Given the description of an element on the screen output the (x, y) to click on. 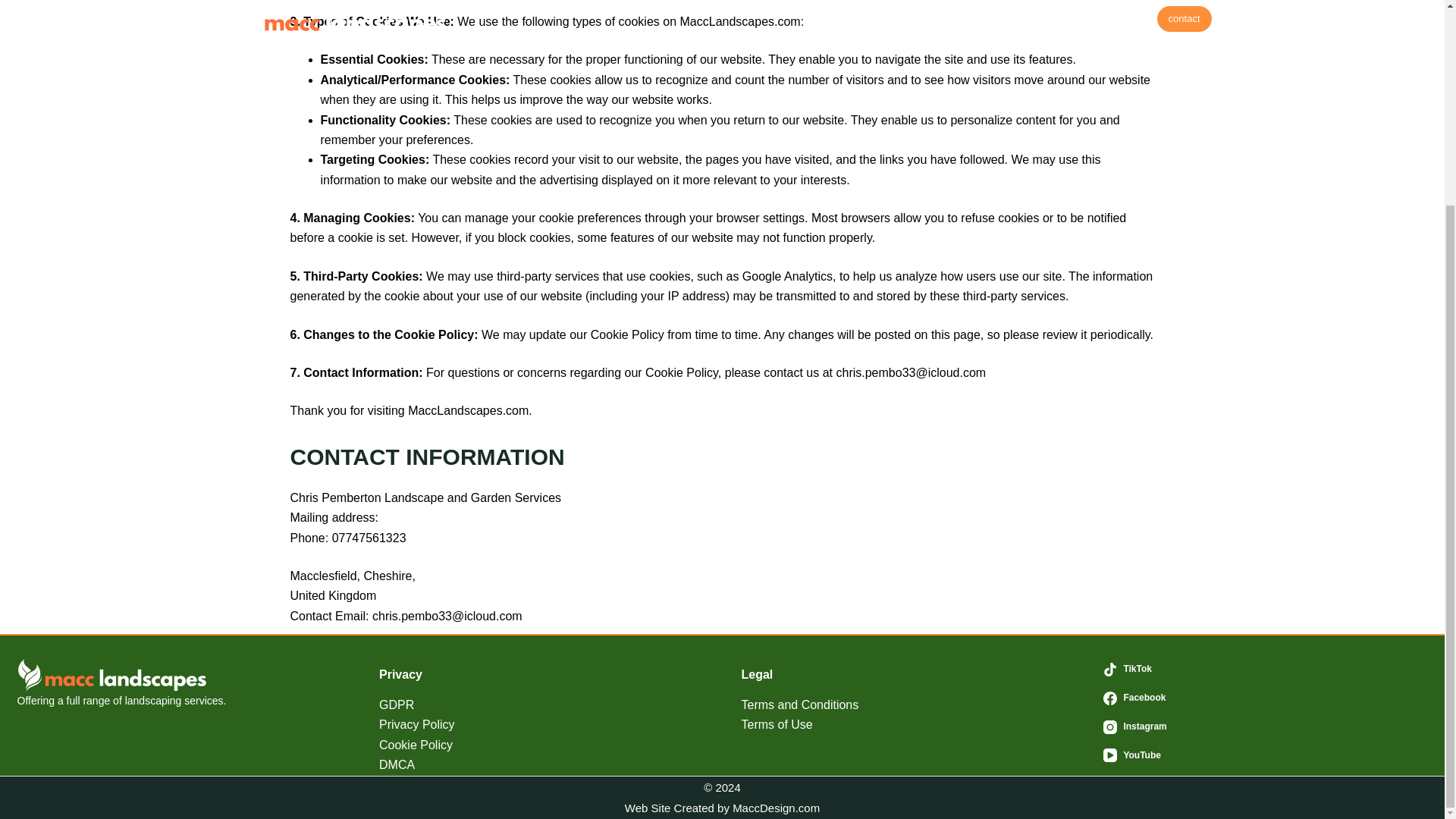
Privacy Policy (416, 724)
GDPR (395, 704)
Facebook (1265, 698)
Cookie Policy (415, 744)
YouTube (1265, 755)
Instagram (1265, 726)
DMCA (396, 764)
Terms and Conditions (800, 704)
Terms of Use (776, 724)
TikTok (1265, 669)
